Given the description of an element on the screen output the (x, y) to click on. 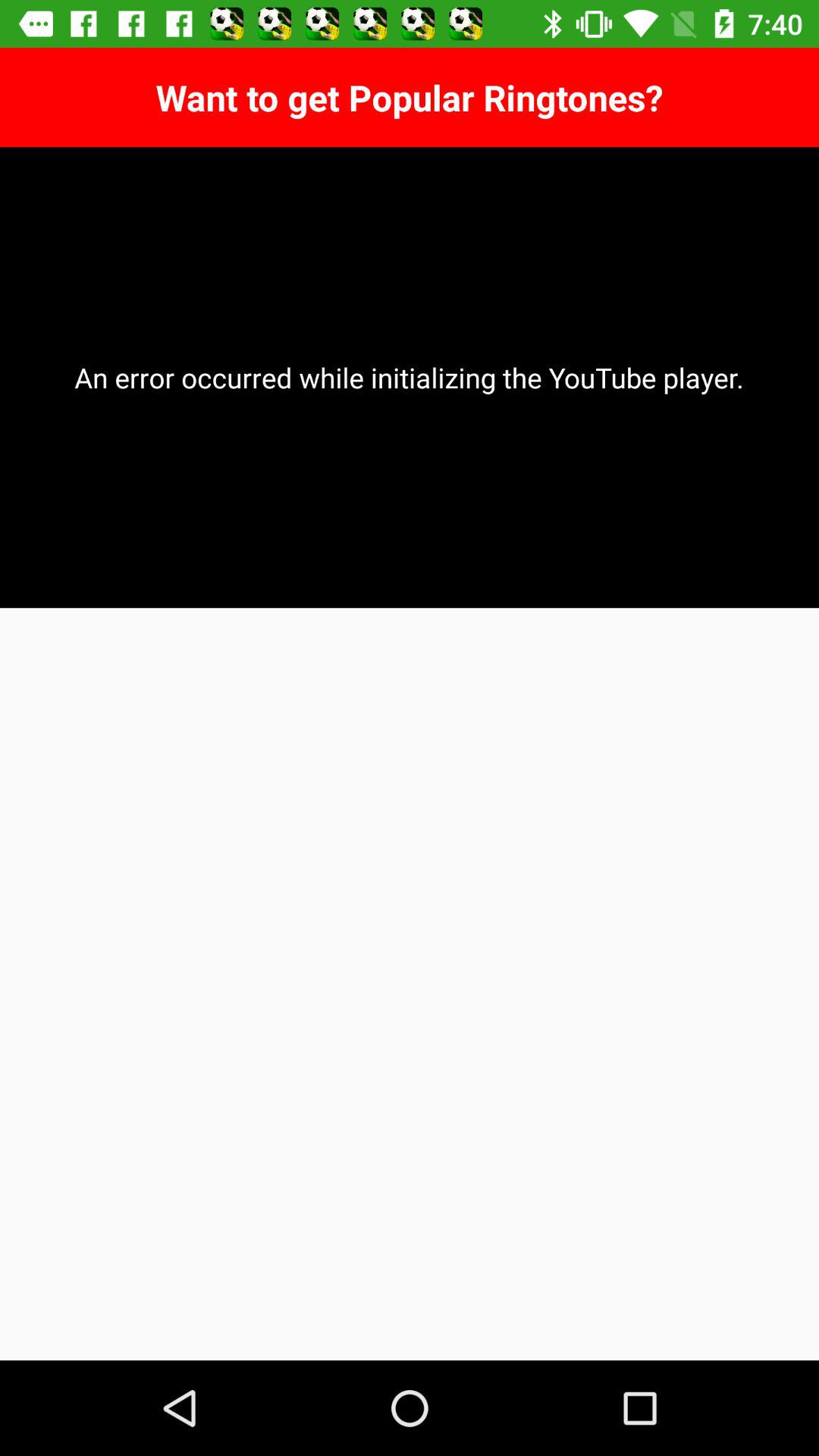
flip to the want to get app (409, 97)
